Given the description of an element on the screen output the (x, y) to click on. 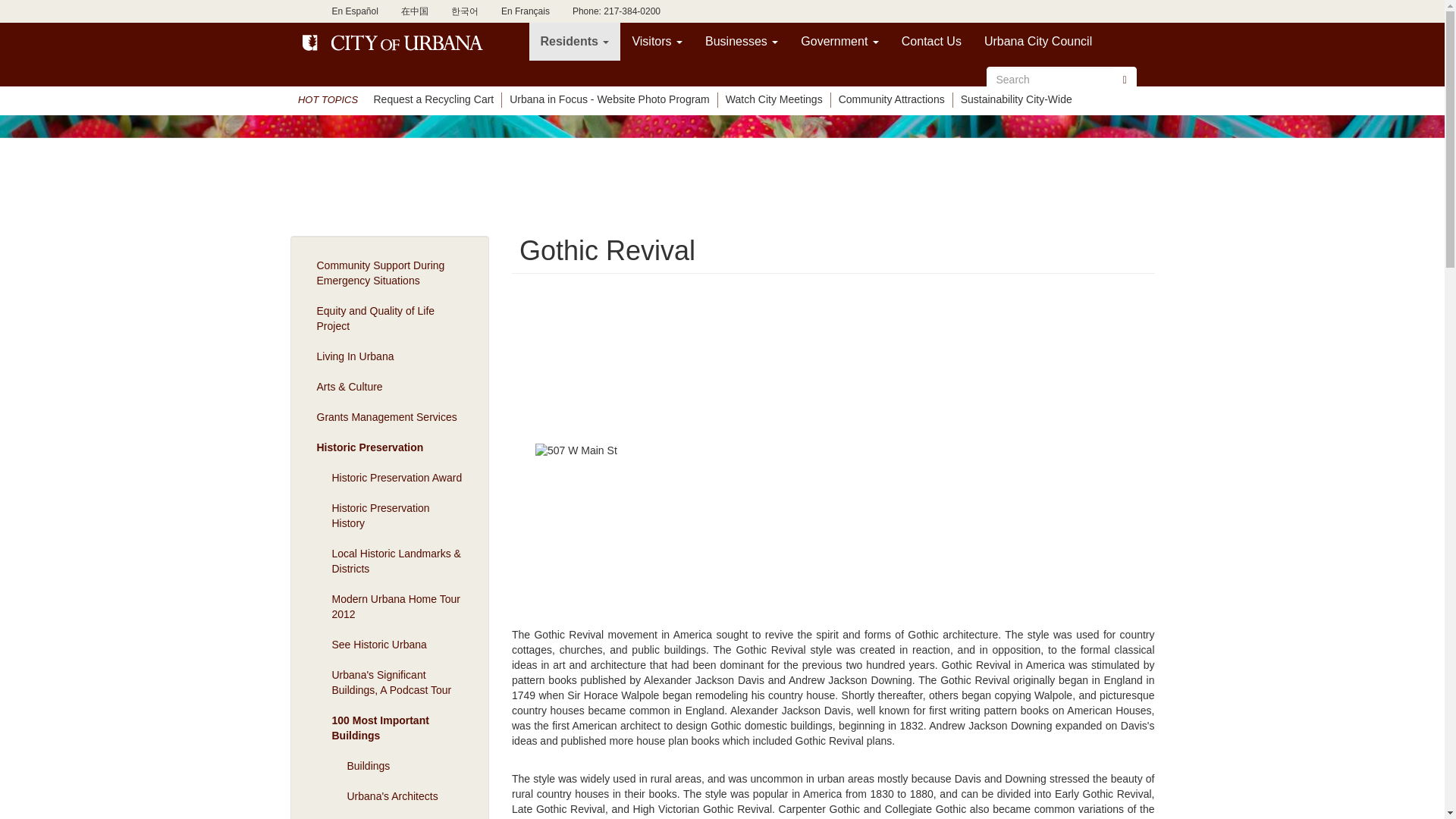
Visit the main landing page for Residents. (575, 41)
Visitors (657, 41)
Phone: 217-384-0200 (615, 11)
Residents (575, 41)
Home (393, 41)
